Given the description of an element on the screen output the (x, y) to click on. 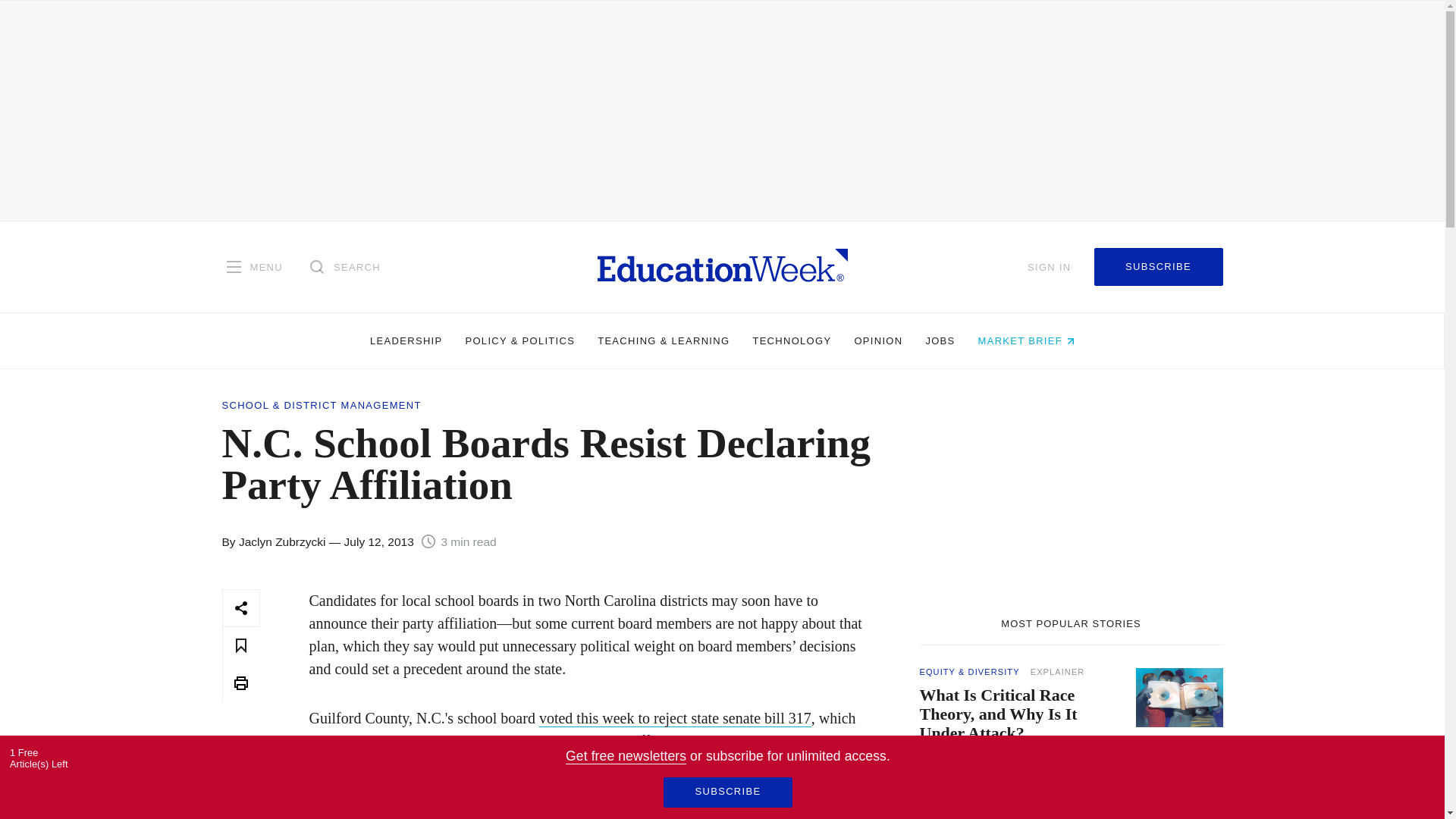
Homepage (721, 266)
